Given the description of an element on the screen output the (x, y) to click on. 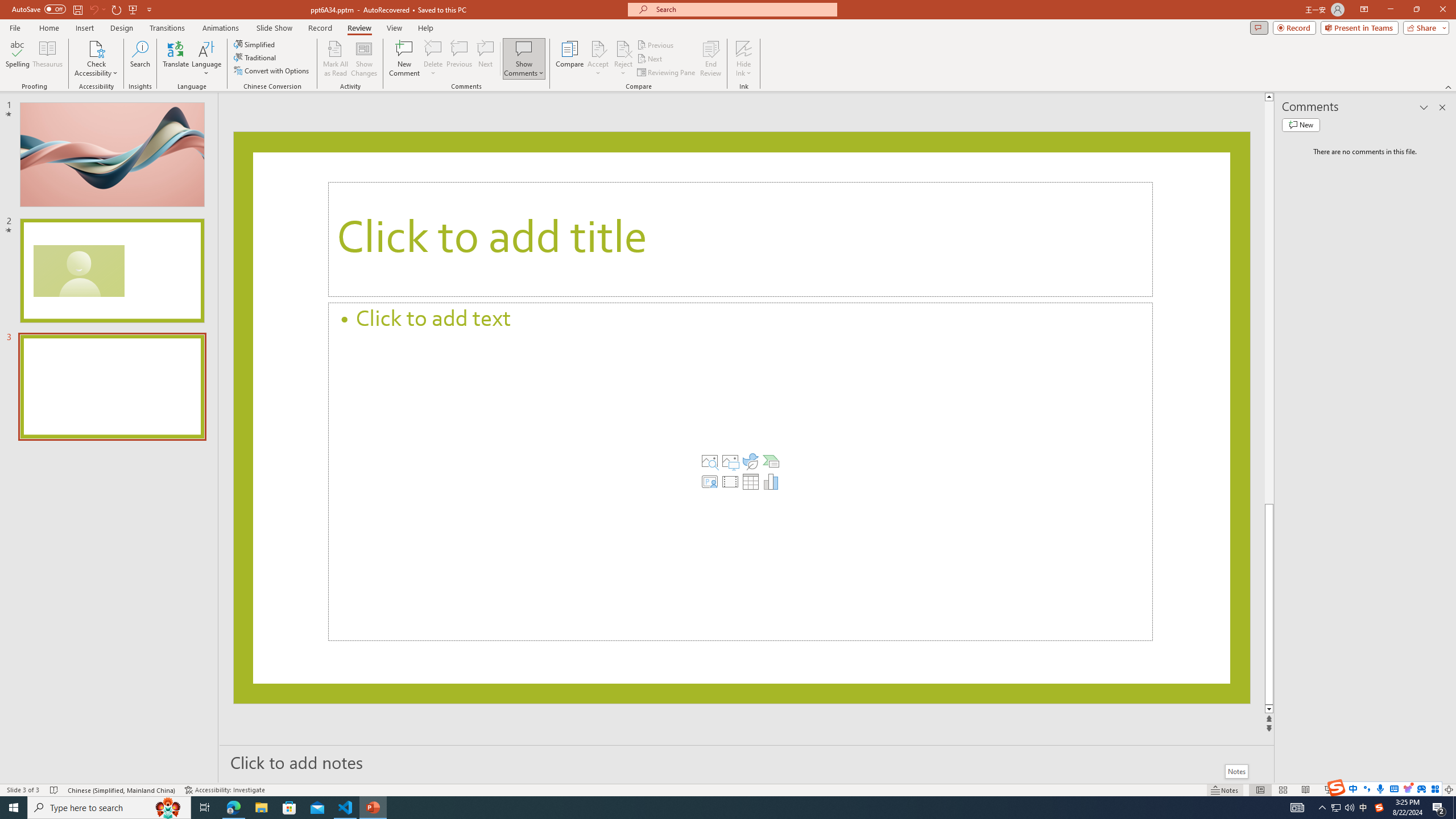
Compare (569, 58)
End Review (710, 58)
